Given the description of an element on the screen output the (x, y) to click on. 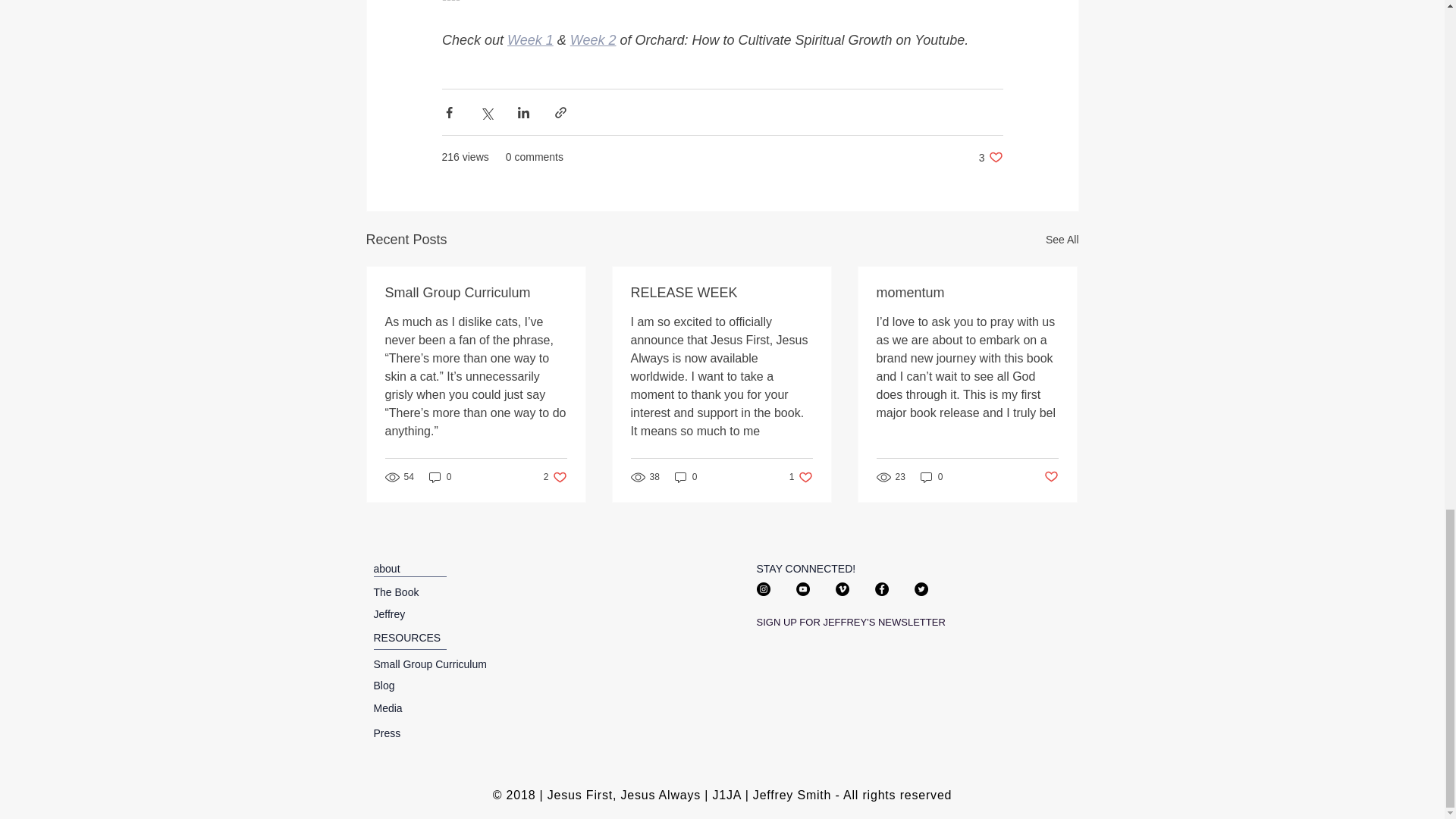
Small Group Curriculum (476, 293)
0 (685, 476)
Week 1 (529, 39)
Small Group Curriculum (429, 664)
Blog (990, 156)
The Book (383, 685)
See All (395, 592)
RELEASE WEEK (1061, 239)
